Given the description of an element on the screen output the (x, y) to click on. 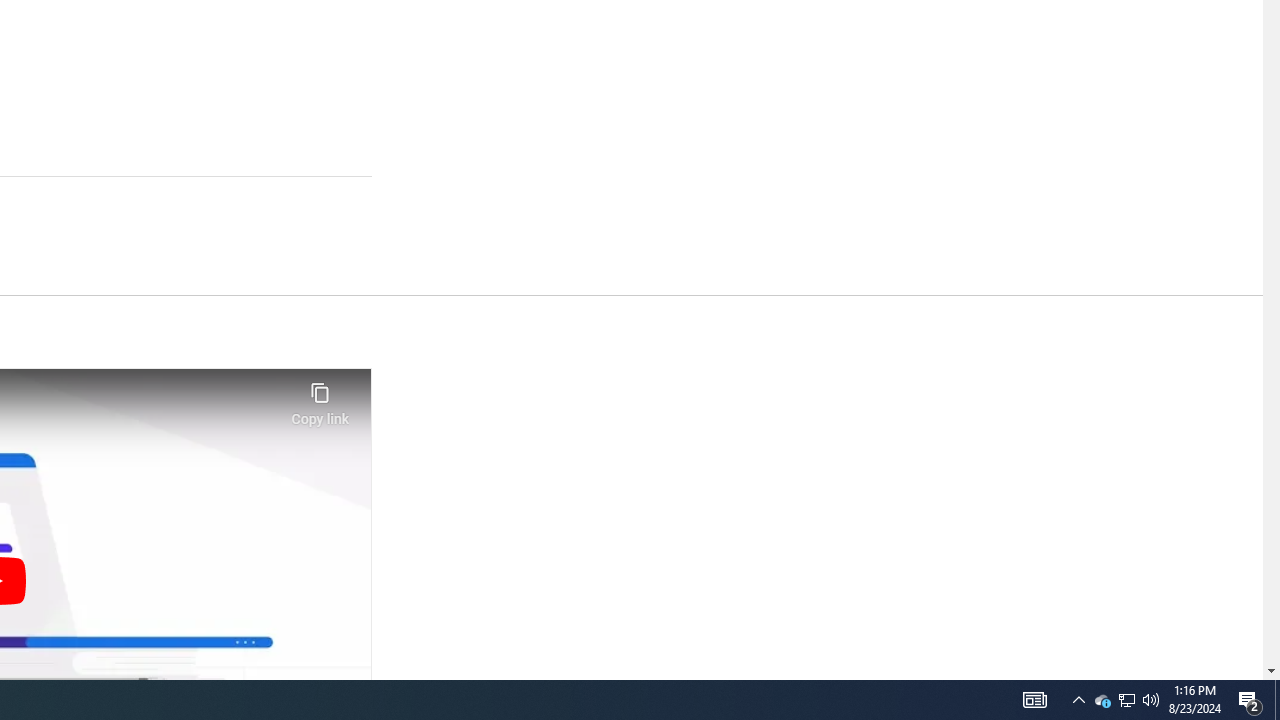
Copy link (319, 398)
